Given the description of an element on the screen output the (x, y) to click on. 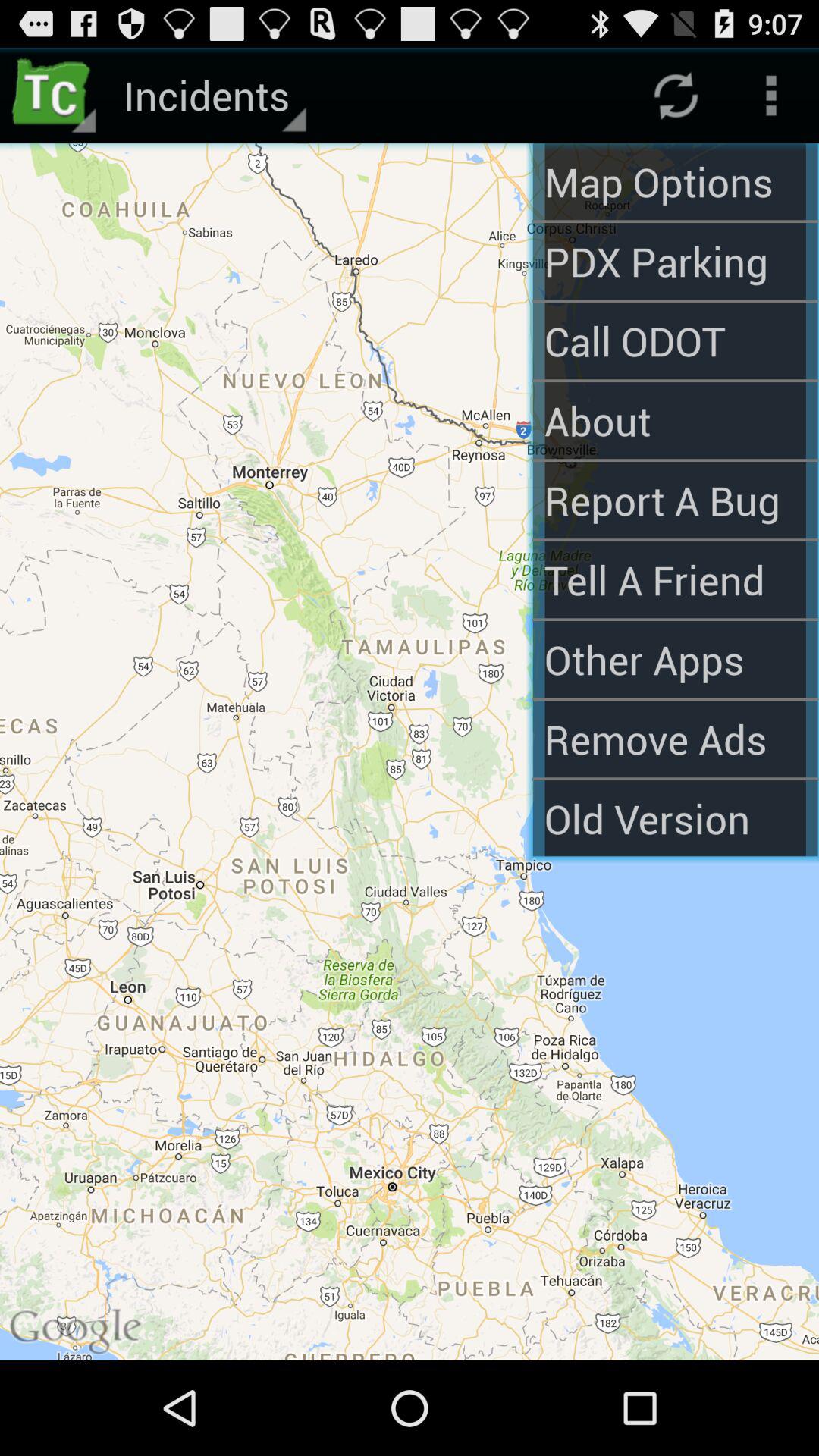
choose item next to incidents icon (675, 181)
